Given the description of an element on the screen output the (x, y) to click on. 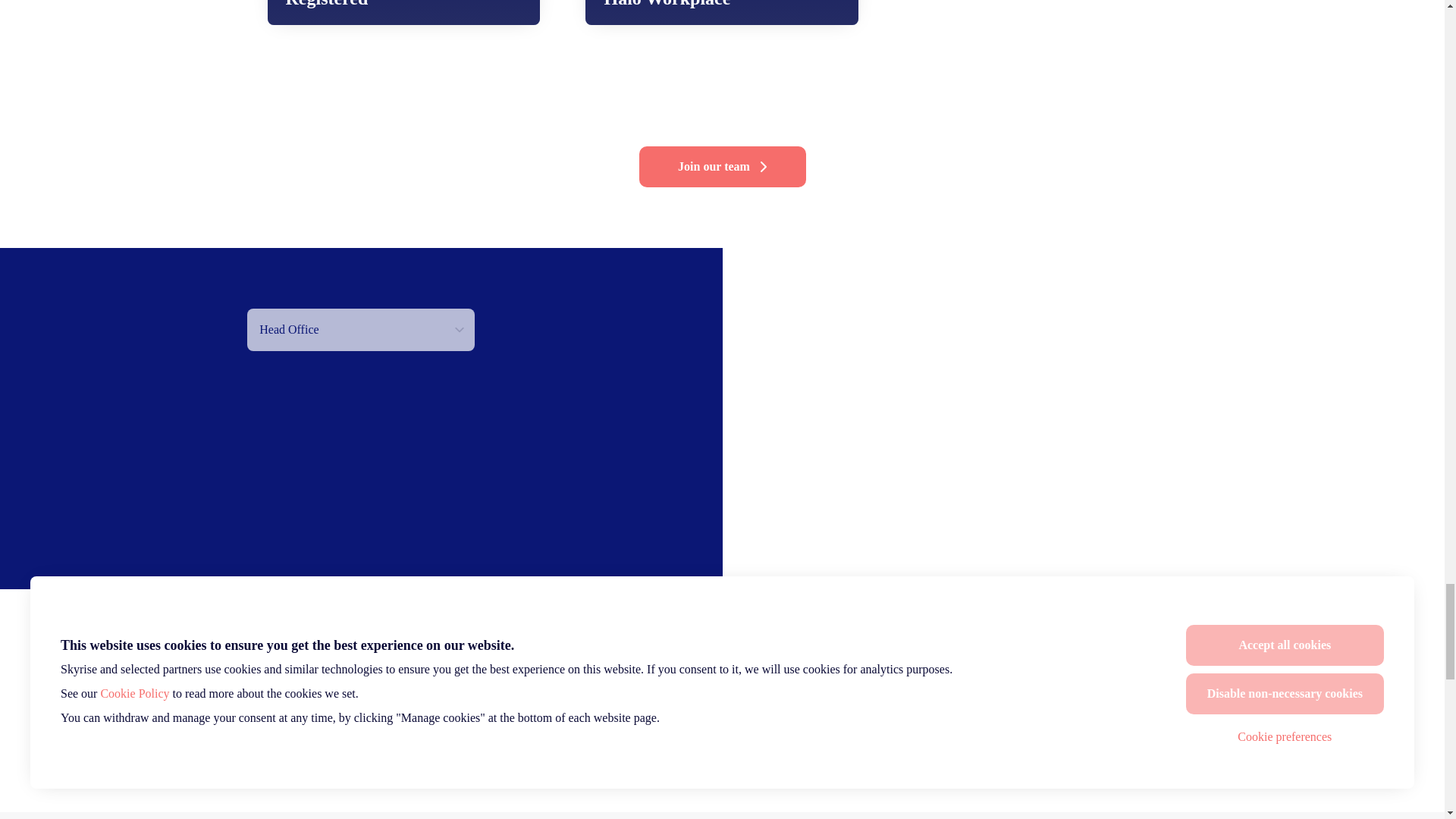
Halo Workplace (722, 12)
Select location (360, 329)
Join our team (722, 730)
Join our team (722, 166)
IAB Gold Standard 2.1 Registered (403, 12)
